Given the description of an element on the screen output the (x, y) to click on. 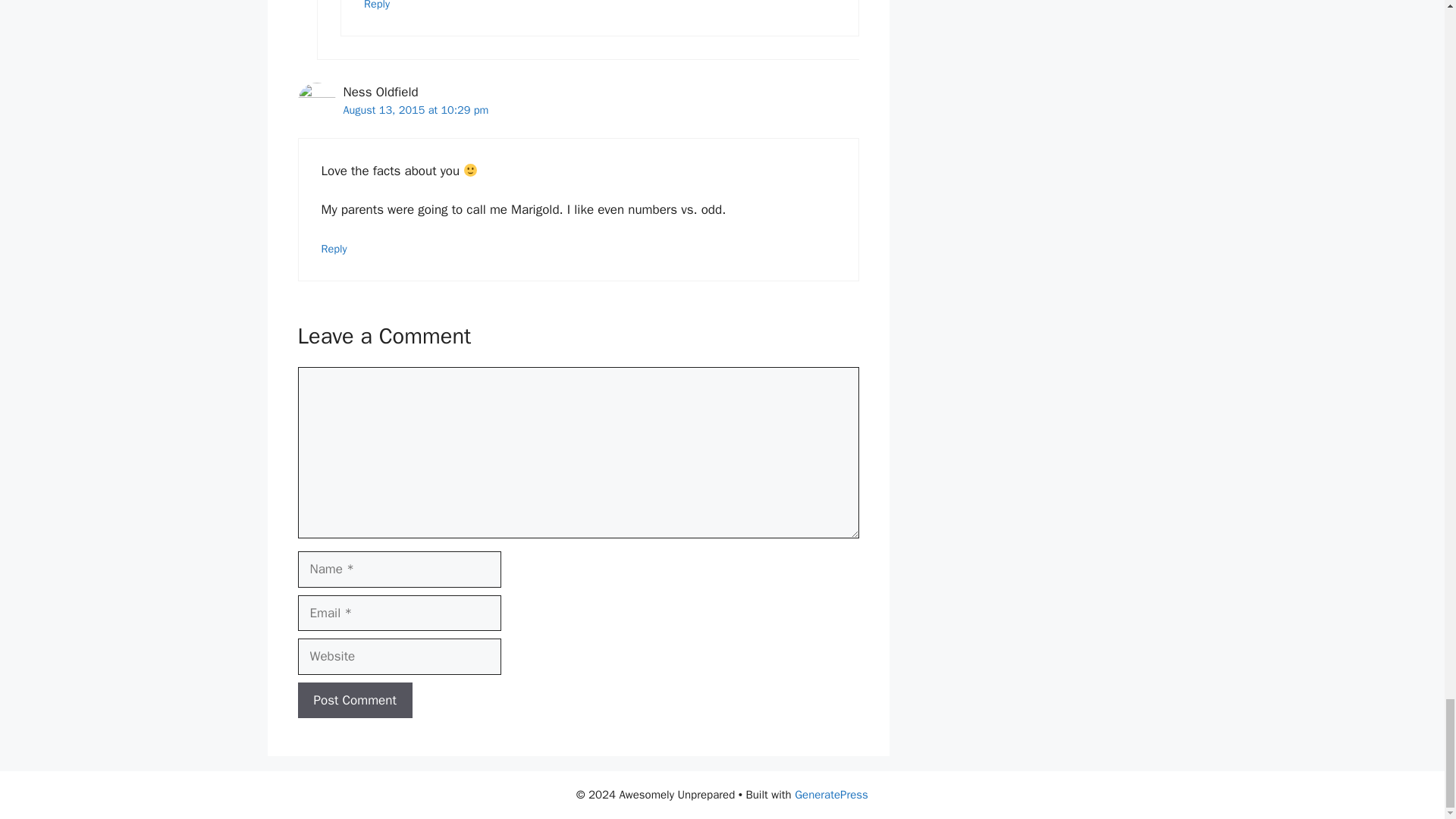
Post Comment (354, 700)
